Given the description of an element on the screen output the (x, y) to click on. 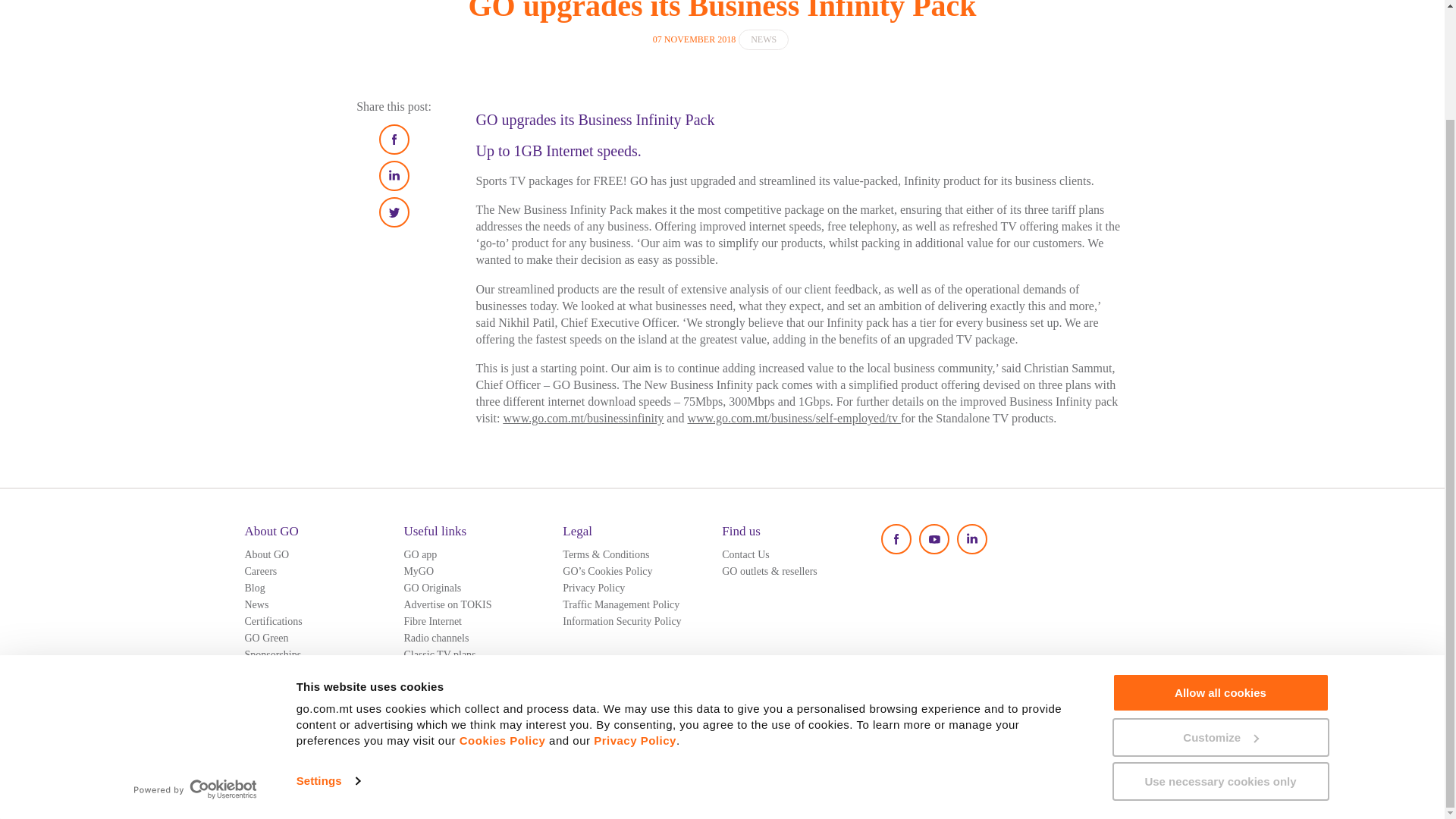
Cookies Policy (503, 611)
Settings (328, 651)
Privacy Policy (635, 611)
Cookies Policy (503, 611)
Privacy Policy (635, 611)
